Given the description of an element on the screen output the (x, y) to click on. 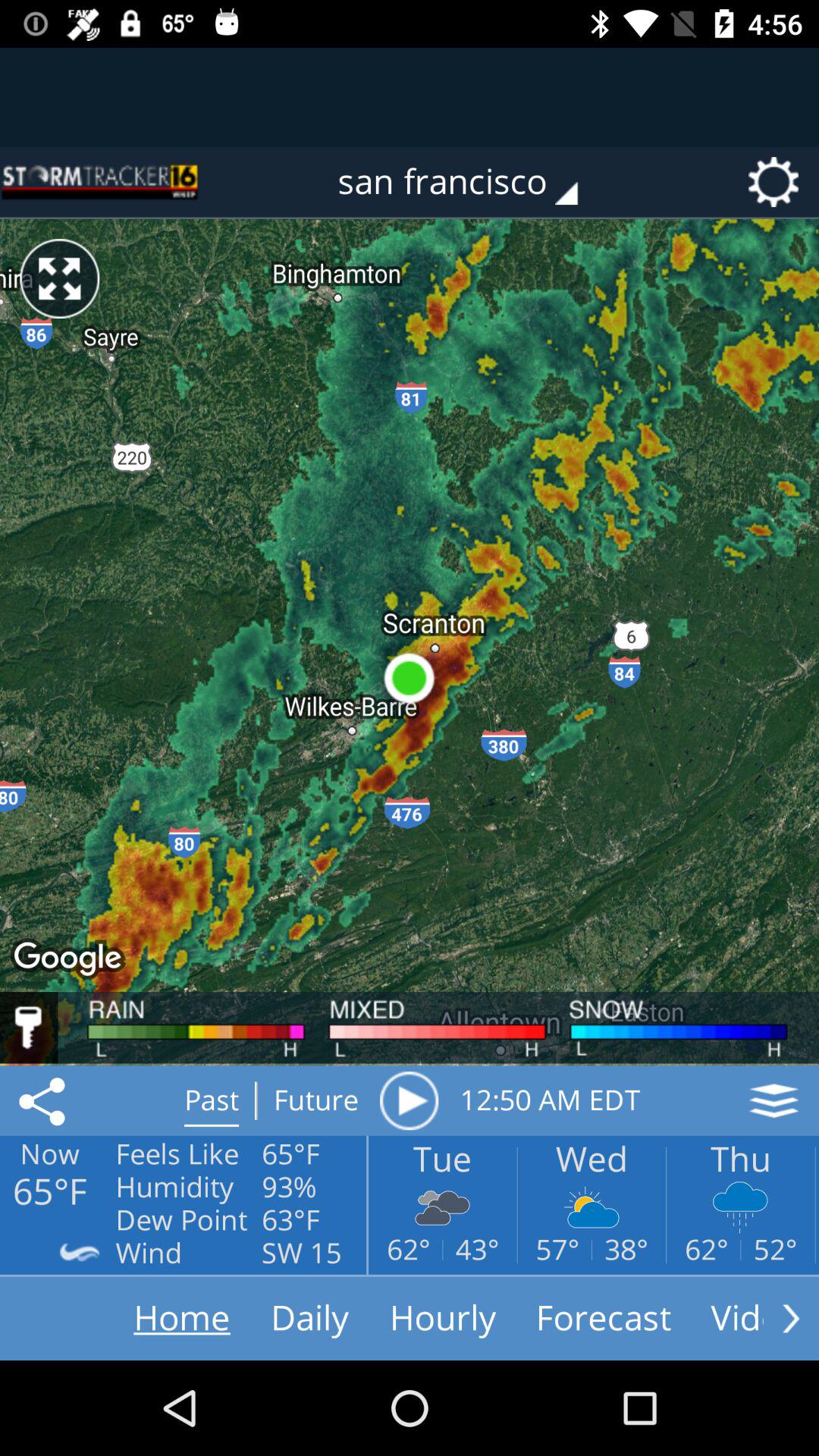
jump to the san francisco icon (468, 182)
